Given the description of an element on the screen output the (x, y) to click on. 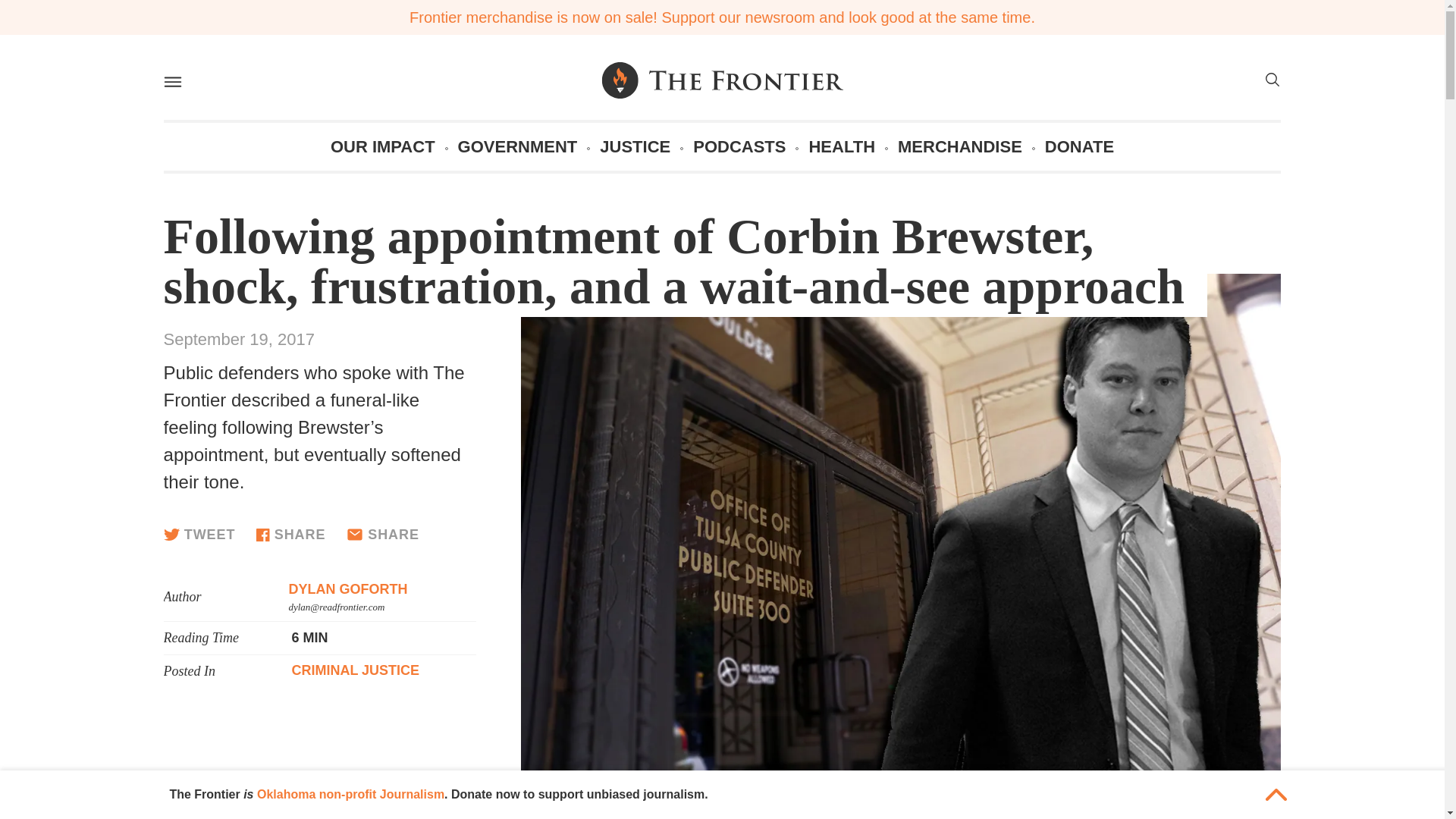
GOVERNMENT (518, 146)
SHARE (290, 534)
MERCHANDISE (960, 146)
SEARCH-OUTLINE (1271, 79)
DYLAN GOFORTH (347, 589)
OUR IMPACT (382, 146)
menu-outline (171, 81)
HEALTH (841, 146)
PODCASTS (739, 146)
DONATE (1079, 146)
TWEET (199, 534)
SHARE (382, 534)
SEARCH-OUTLINE (1271, 82)
JUSTICE (634, 146)
